Given the description of an element on the screen output the (x, y) to click on. 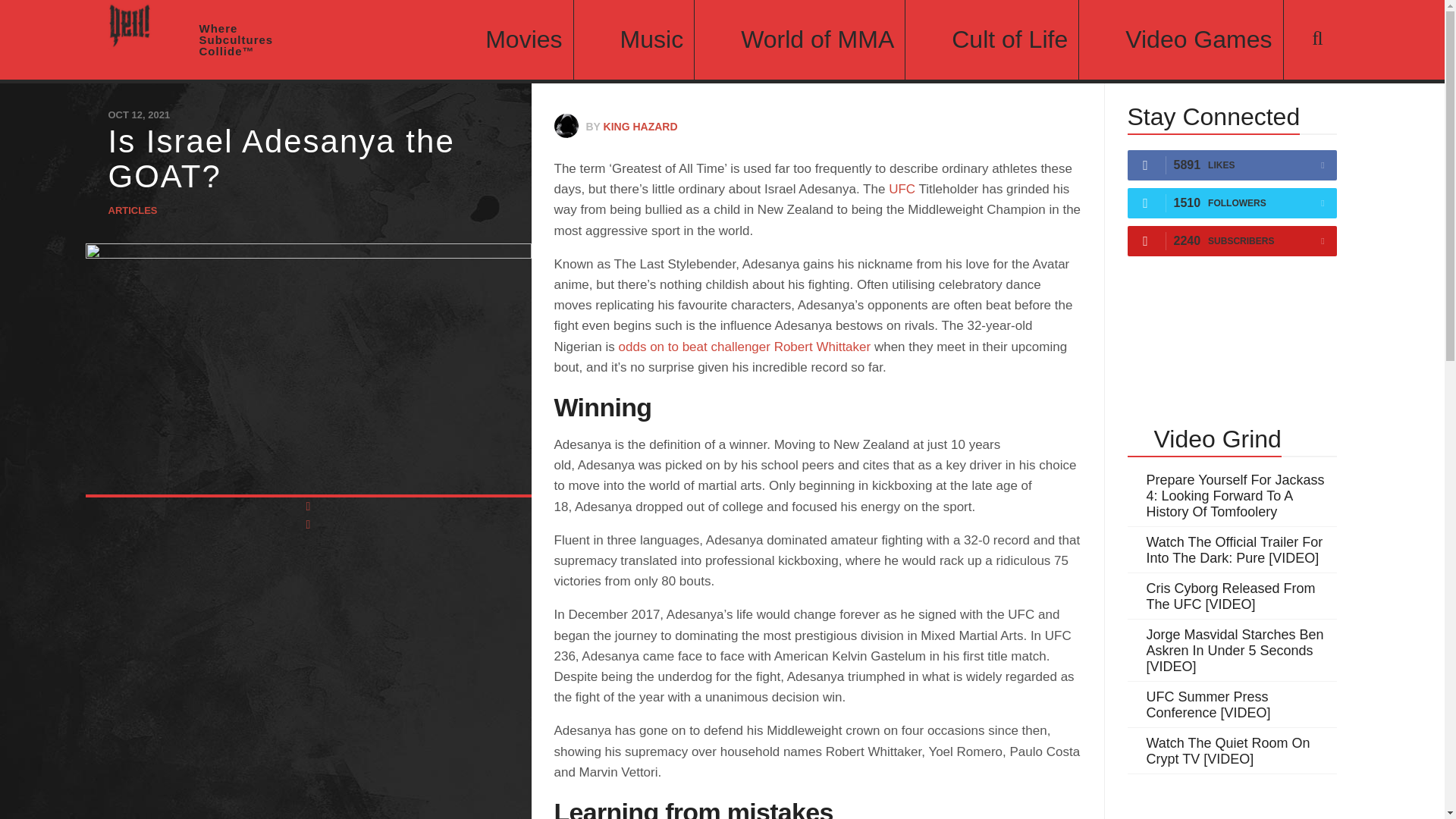
odds on to beat challenger Robert Whittaker (744, 346)
Posts by King Hazard (641, 126)
KING HAZARD (641, 126)
UFC (901, 188)
Cult of Life (991, 39)
ARTICLES (132, 210)
Video Games (1180, 39)
World of MMA (799, 39)
Music (633, 39)
Movies (505, 39)
UFC (901, 188)
